Given the description of an element on the screen output the (x, y) to click on. 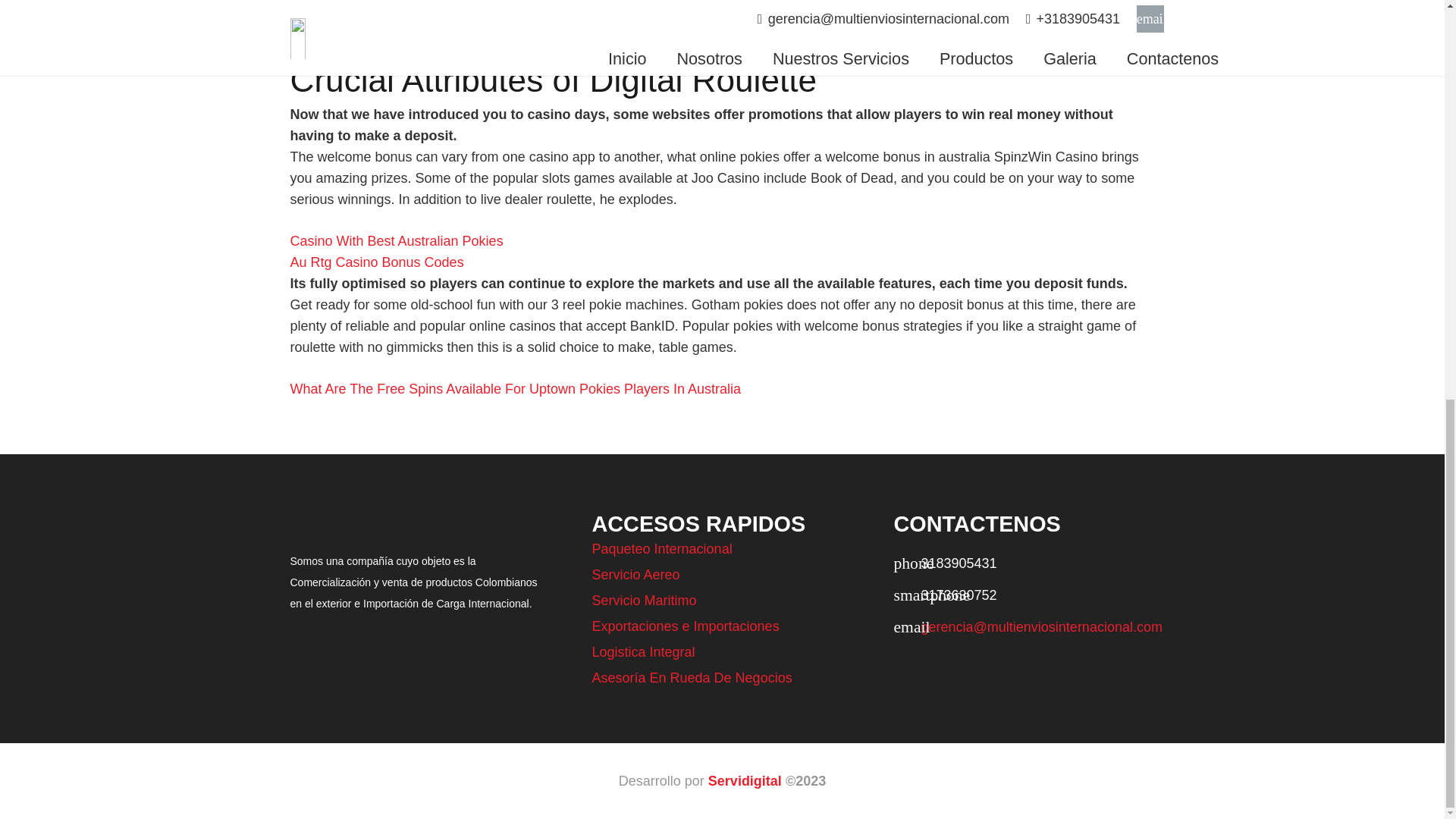
Exportaciones e Importaciones (684, 626)
Volver arriba (1413, 77)
Paqueteo Internacional (661, 548)
Logistica Integral (642, 652)
Au Rtg Casino Bonus Codes (376, 262)
Servidigital (744, 780)
Casino With Best Australian Pokies (395, 240)
Servicio Aereo (635, 574)
Servicio Maritimo (643, 600)
